Given the description of an element on the screen output the (x, y) to click on. 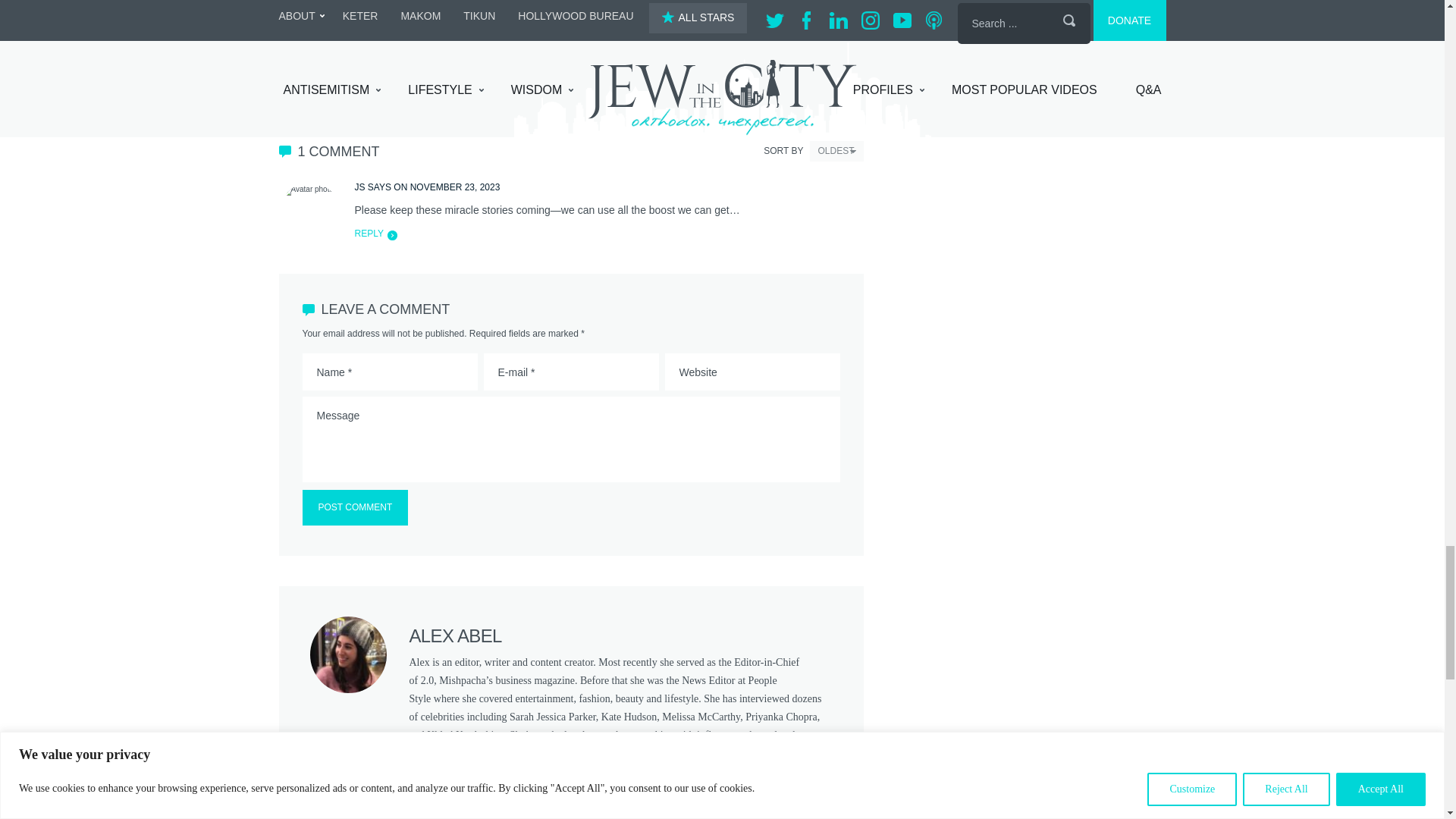
Post comment (354, 507)
